Given the description of an element on the screen output the (x, y) to click on. 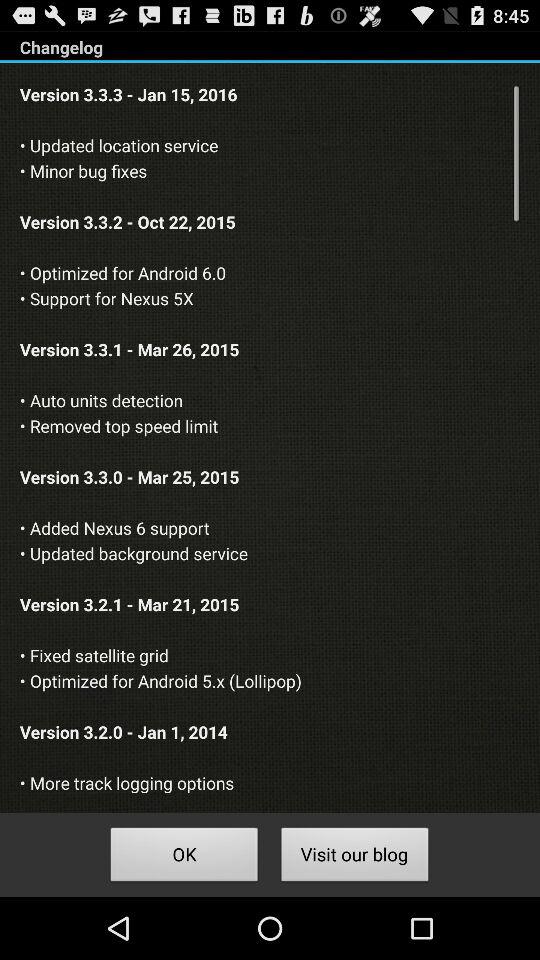
turn on the item to the left of visit our blog item (184, 857)
